Given the description of an element on the screen output the (x, y) to click on. 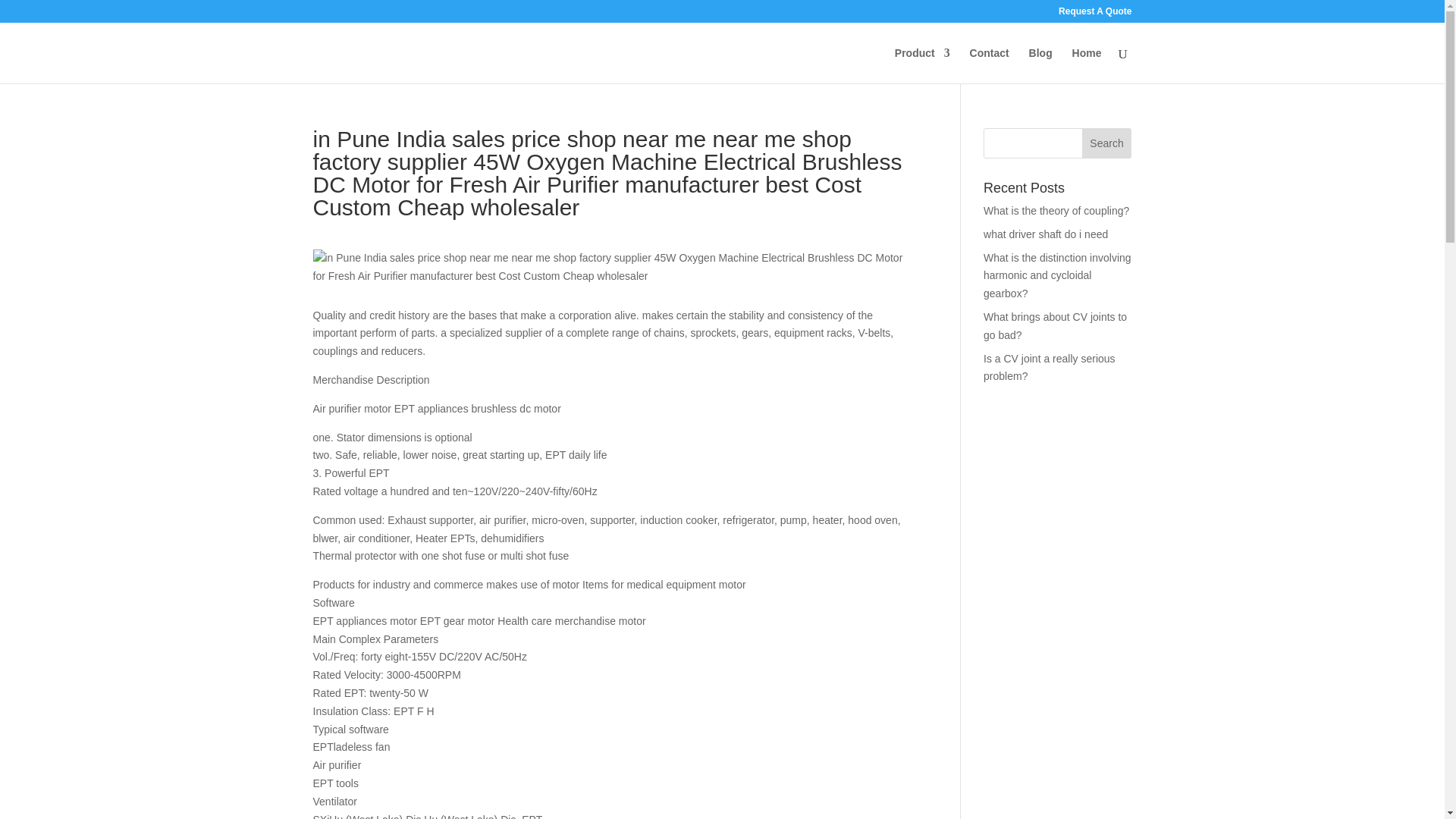
Product (922, 65)
Contact (989, 65)
what driver shaft do i need (1046, 234)
Request A Quote (1094, 14)
Search (1106, 142)
What is the theory of coupling? (1056, 210)
Is a CV joint a really serious problem? (1049, 367)
Search (1106, 142)
